Given the description of an element on the screen output the (x, y) to click on. 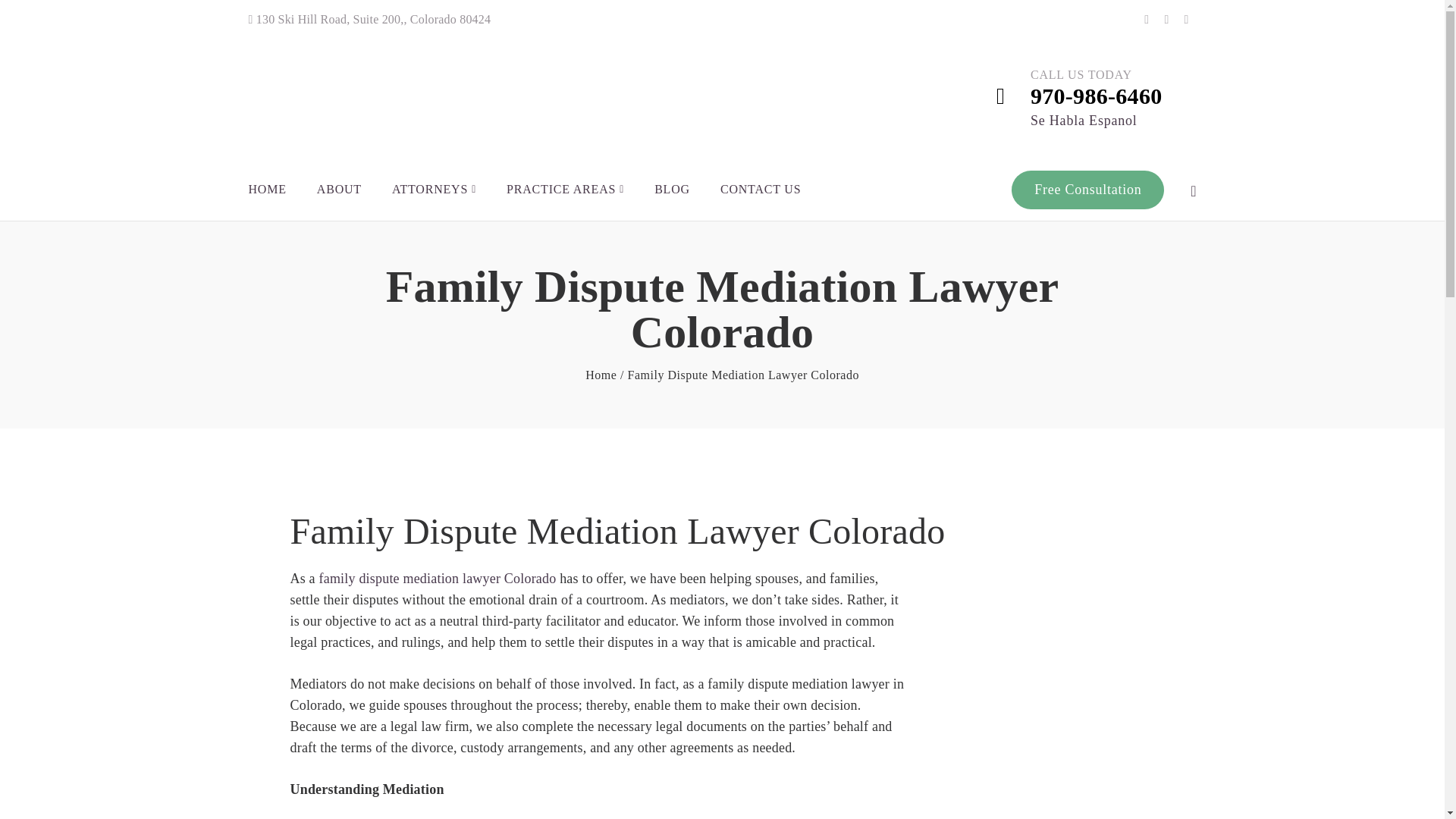
CONTACT US (760, 189)
ATTORNEYS (433, 189)
BLOG (671, 189)
HOME (267, 189)
ABOUT (339, 189)
Summit County Divorce Attorney (600, 374)
Free Consultation (1087, 189)
family dispute mediation lawyer Colorado (437, 578)
PRACTICE AREAS (565, 189)
Home (600, 374)
